Given the description of an element on the screen output the (x, y) to click on. 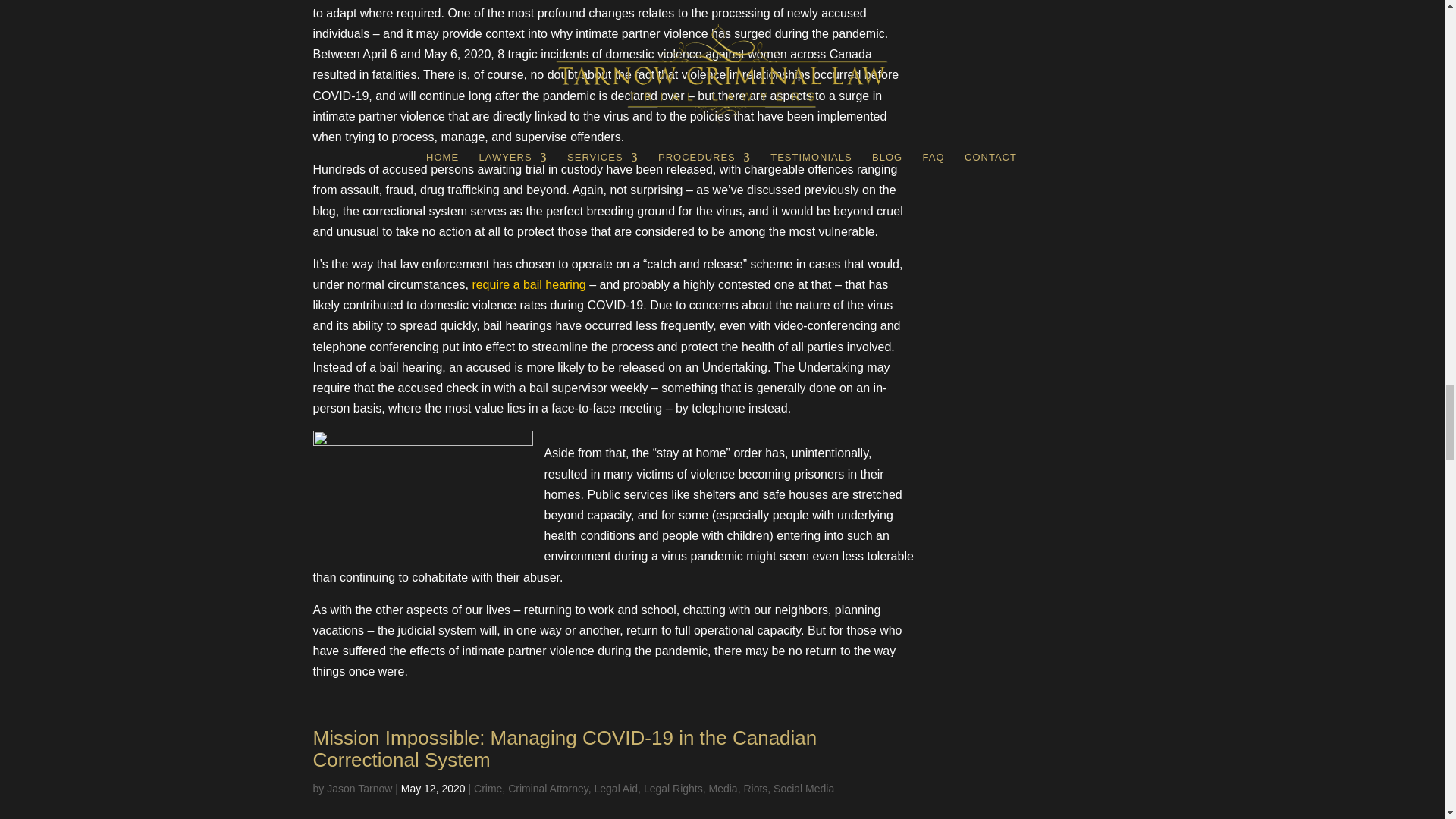
Posts by Jason Tarnow (358, 788)
